Given the description of an element on the screen output the (x, y) to click on. 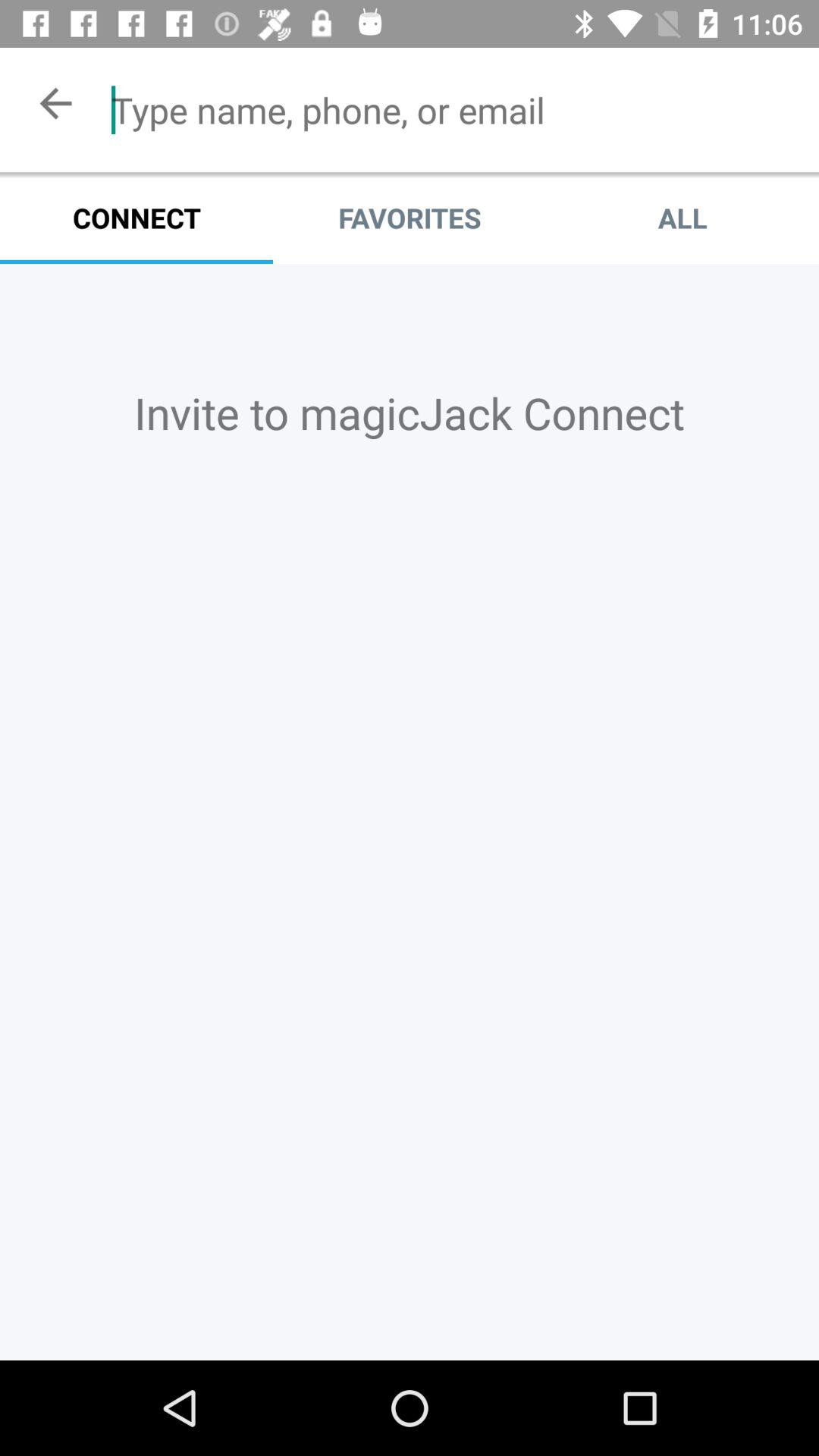
turn on item to the right of the connect (409, 217)
